Given the description of an element on the screen output the (x, y) to click on. 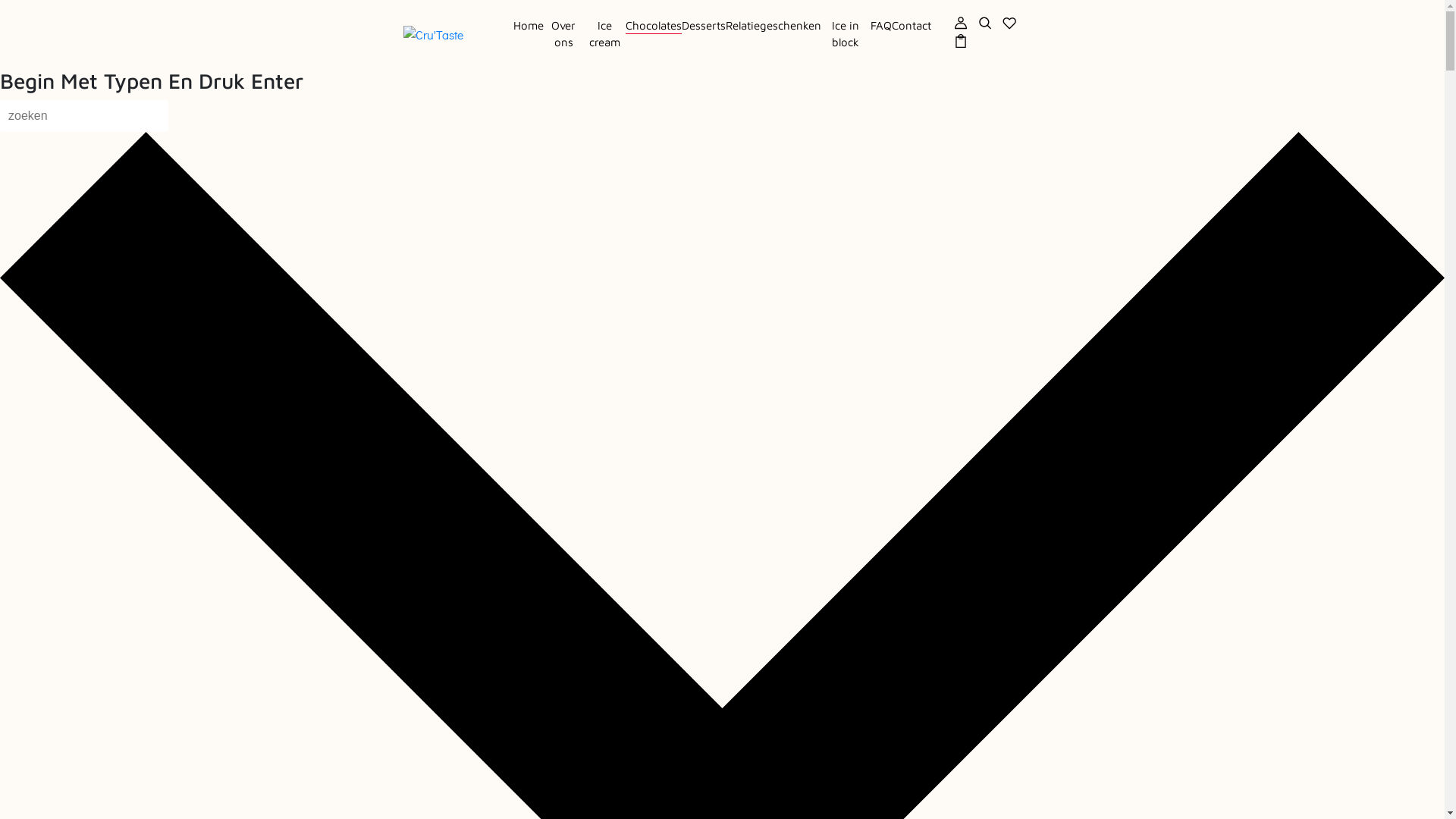
Ice in block Element type: text (846, 33)
Relatiegeschenken Element type: text (773, 25)
Home Element type: text (528, 25)
Desserts Element type: text (703, 25)
FAQ Element type: text (880, 25)
image/svg+xml Element type: text (960, 20)
image/svg+xml Element type: text (984, 20)
Contact Element type: text (911, 25)
Chocolates Element type: text (653, 25)
Over ons Element type: text (563, 33)
Ice cream Element type: text (603, 33)
image/svg+xml Element type: text (1009, 20)
image/svg+xml Element type: text (960, 39)
